Given the description of an element on the screen output the (x, y) to click on. 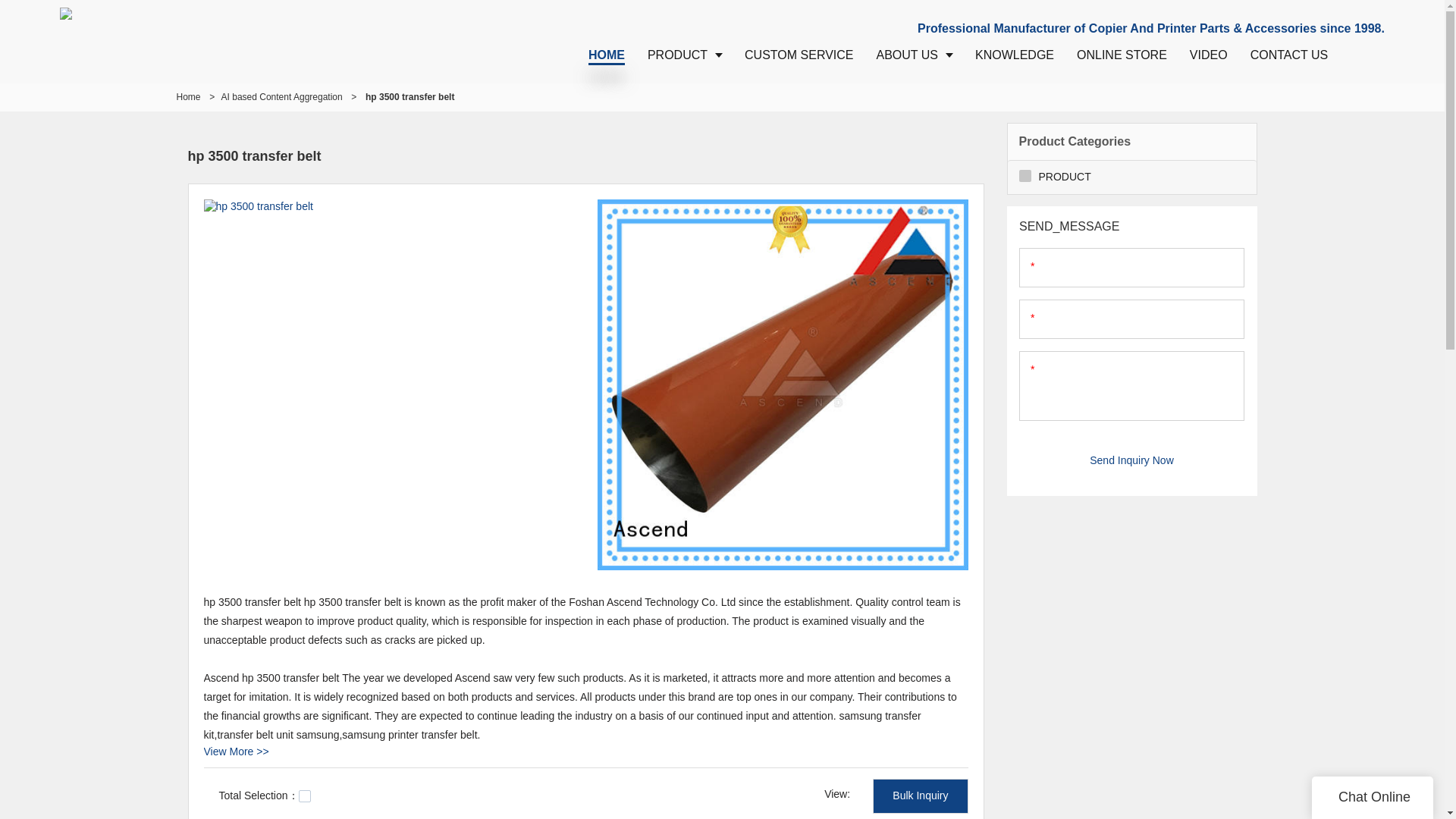
CUSTOM SERVICE (798, 55)
HOME (606, 55)
ABOUT US (913, 55)
KNOWLEDGE (1014, 55)
on (304, 796)
ONLINE STORE (1121, 55)
PRODUCT (684, 55)
